Given the description of an element on the screen output the (x, y) to click on. 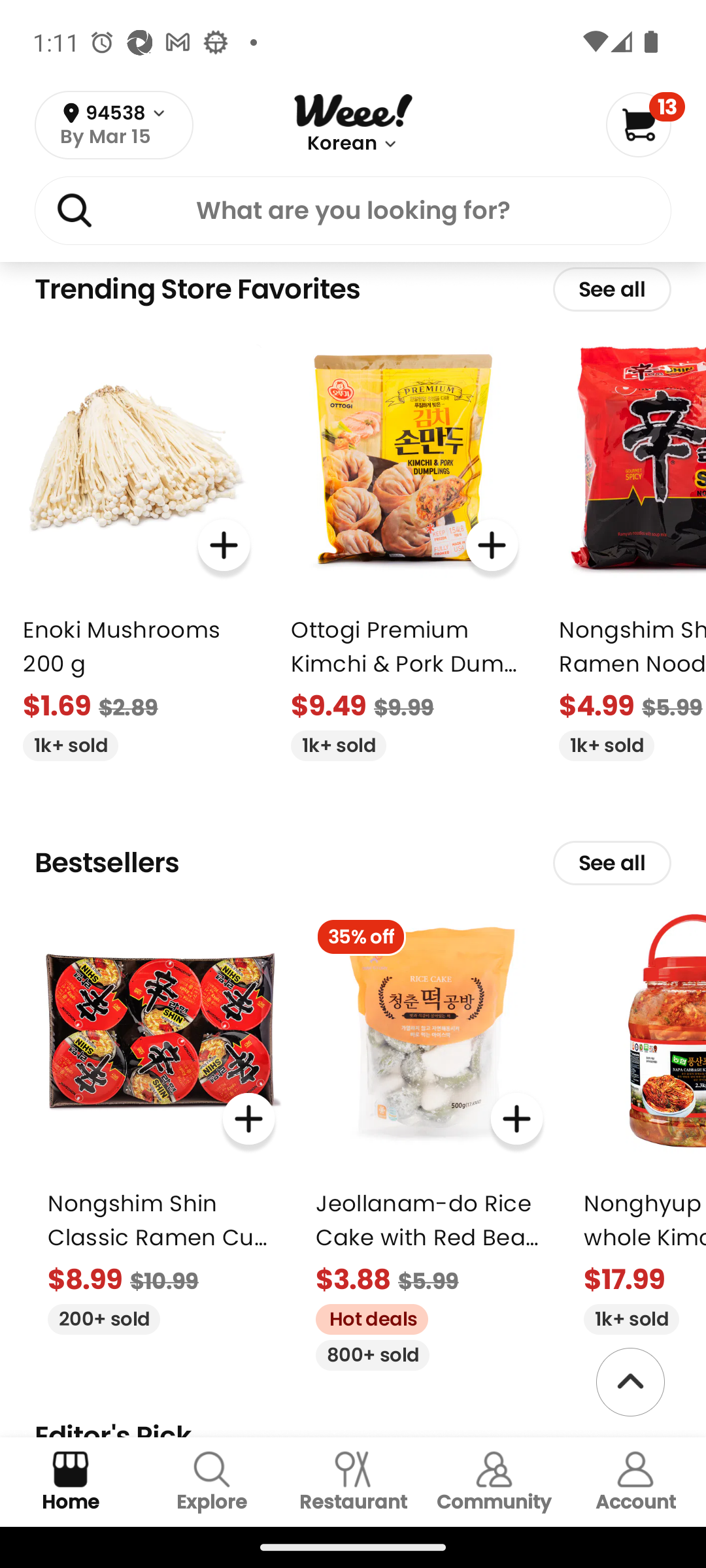
94538 By Mar 15 (113, 124)
13 (644, 124)
Korean (342, 143)
What are you looking for? (353, 213)
What are you looking for? (352, 209)
Enoki Mushrooms 200 g $1.69 $2.89 1k+ sold (136, 545)
Hot deals (364, 1316)
Home (70, 1482)
Explore (211, 1482)
Restaurant (352, 1482)
Community (493, 1482)
Account (635, 1482)
